Given the description of an element on the screen output the (x, y) to click on. 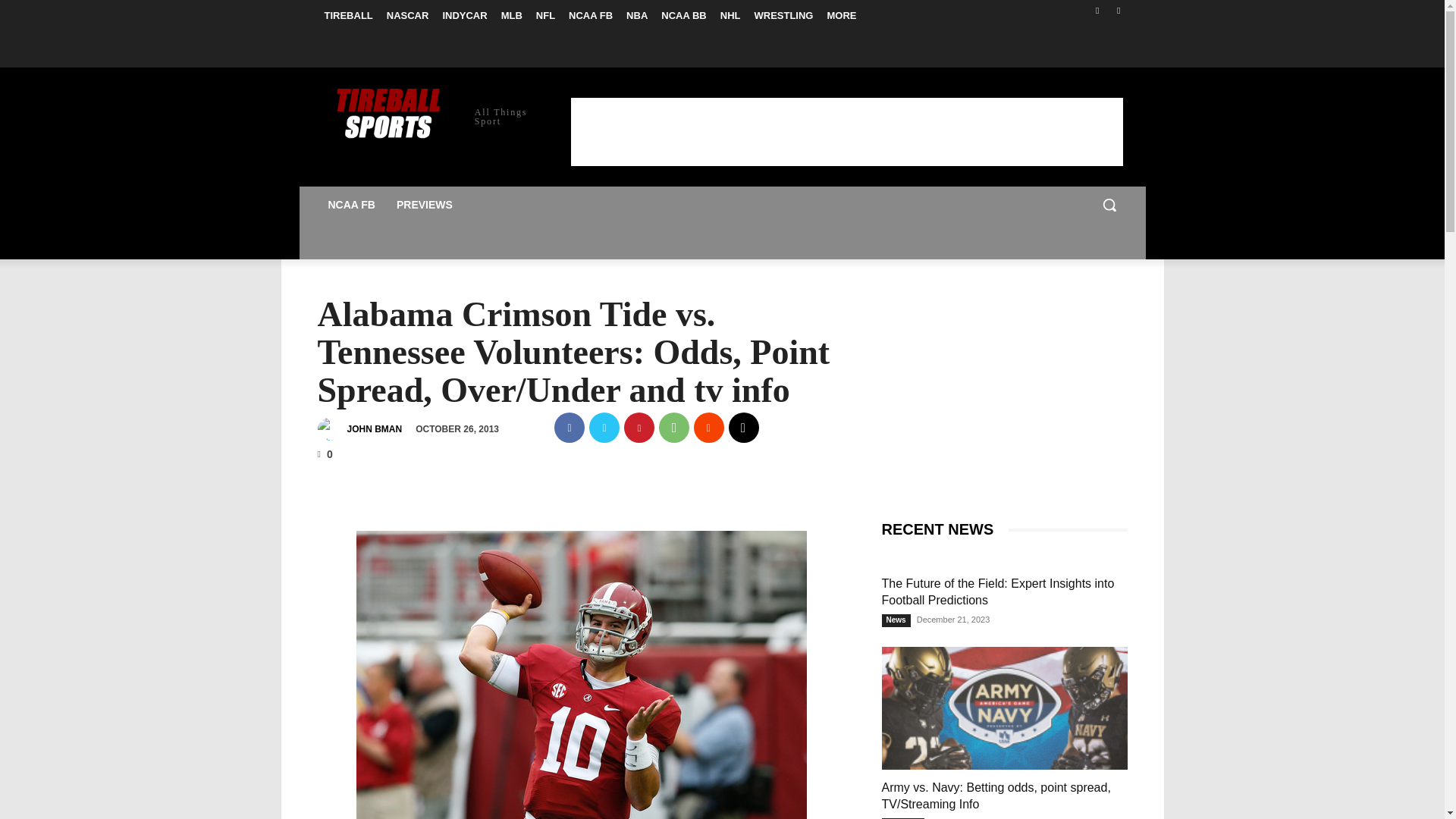
ReddIt (708, 427)
NBA (636, 15)
NASCAR (407, 15)
MLB (512, 15)
NCAA FB (591, 15)
0 (324, 453)
JOHN BMAN (375, 428)
All Things Sport (425, 115)
Digg (743, 427)
NCAA BB (683, 15)
John Bman (330, 428)
Facebook (1097, 9)
Pinterest (638, 427)
NHL (730, 15)
TIREBALL (347, 15)
